Given the description of an element on the screen output the (x, y) to click on. 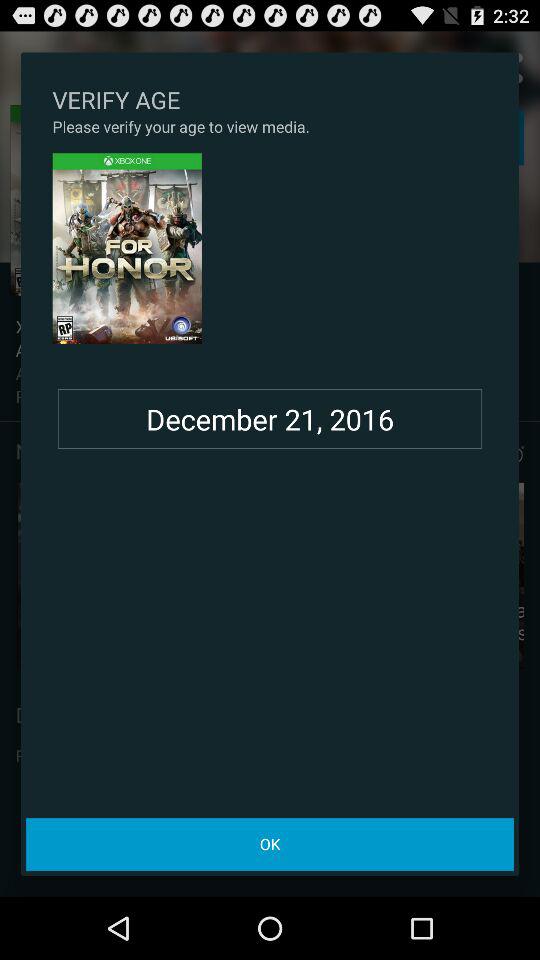
swipe to the december 21, 2016 icon (269, 419)
